Given the description of an element on the screen output the (x, y) to click on. 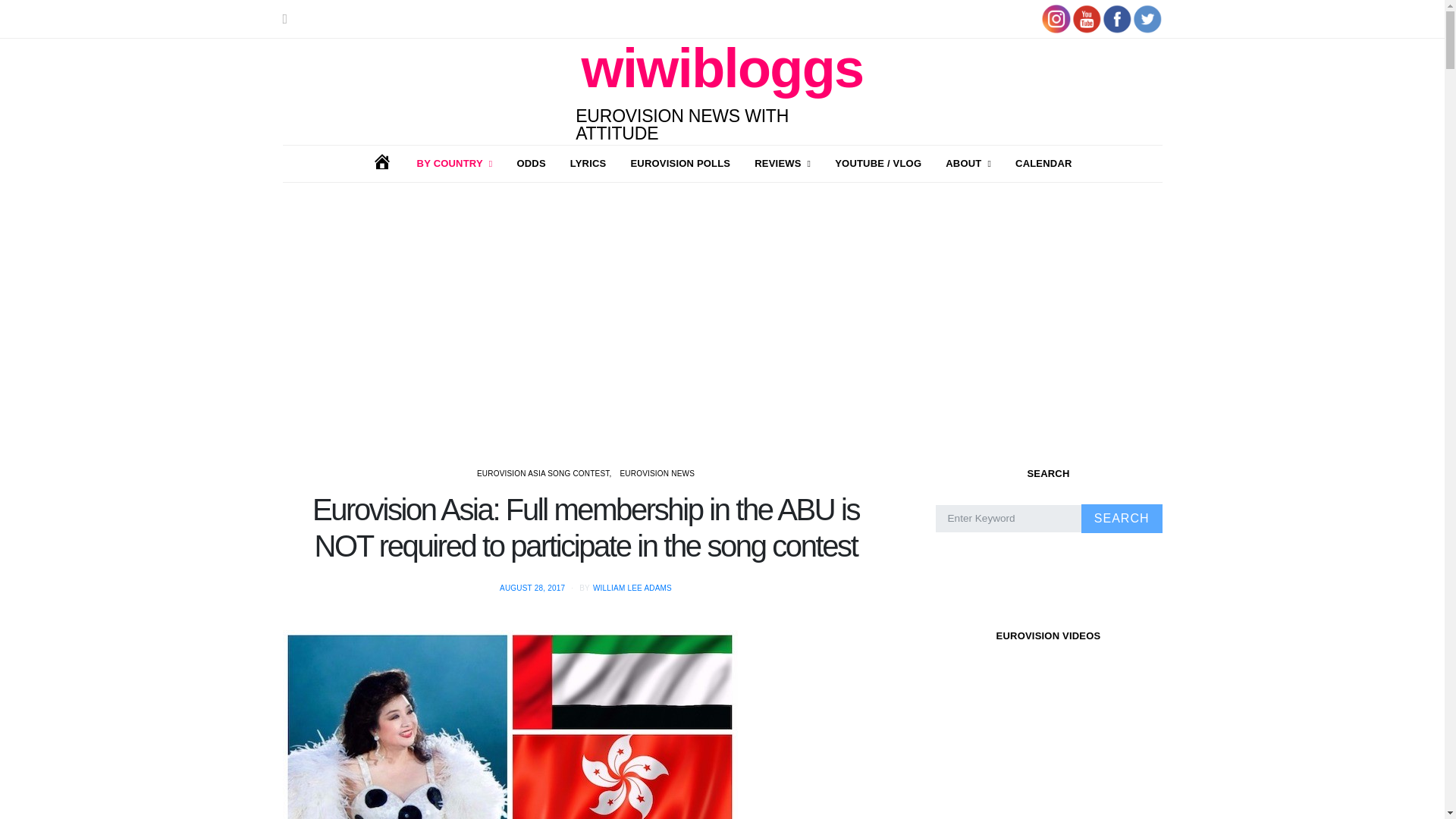
Eurovision (454, 163)
Eurovision and National Finals (782, 163)
About wiwibloggs (967, 163)
View all posts by William Lee Adams (631, 587)
